Given the description of an element on the screen output the (x, y) to click on. 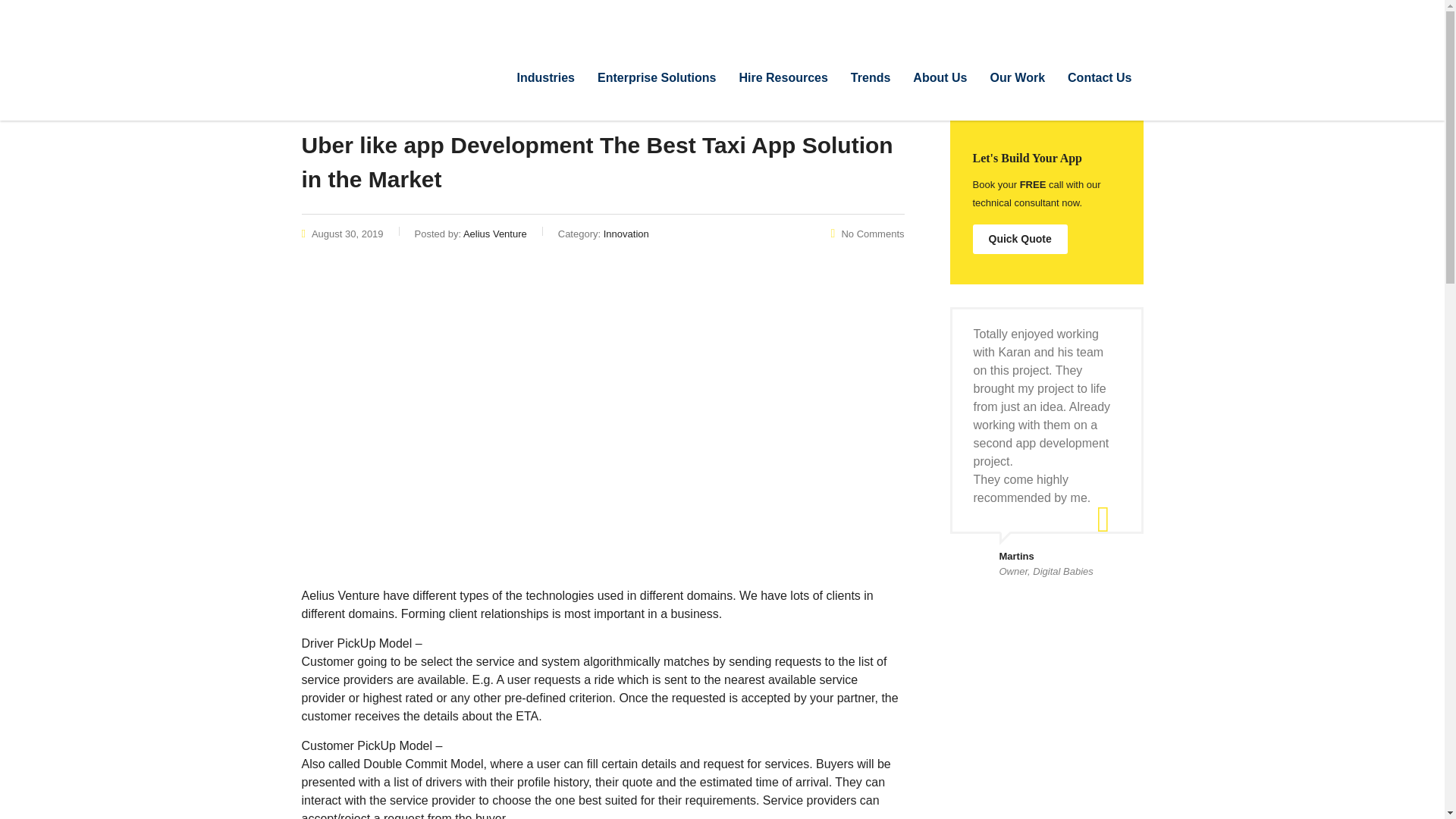
Industries (545, 77)
Enterprise Solutions (656, 77)
Hire Resources (782, 77)
